Given the description of an element on the screen output the (x, y) to click on. 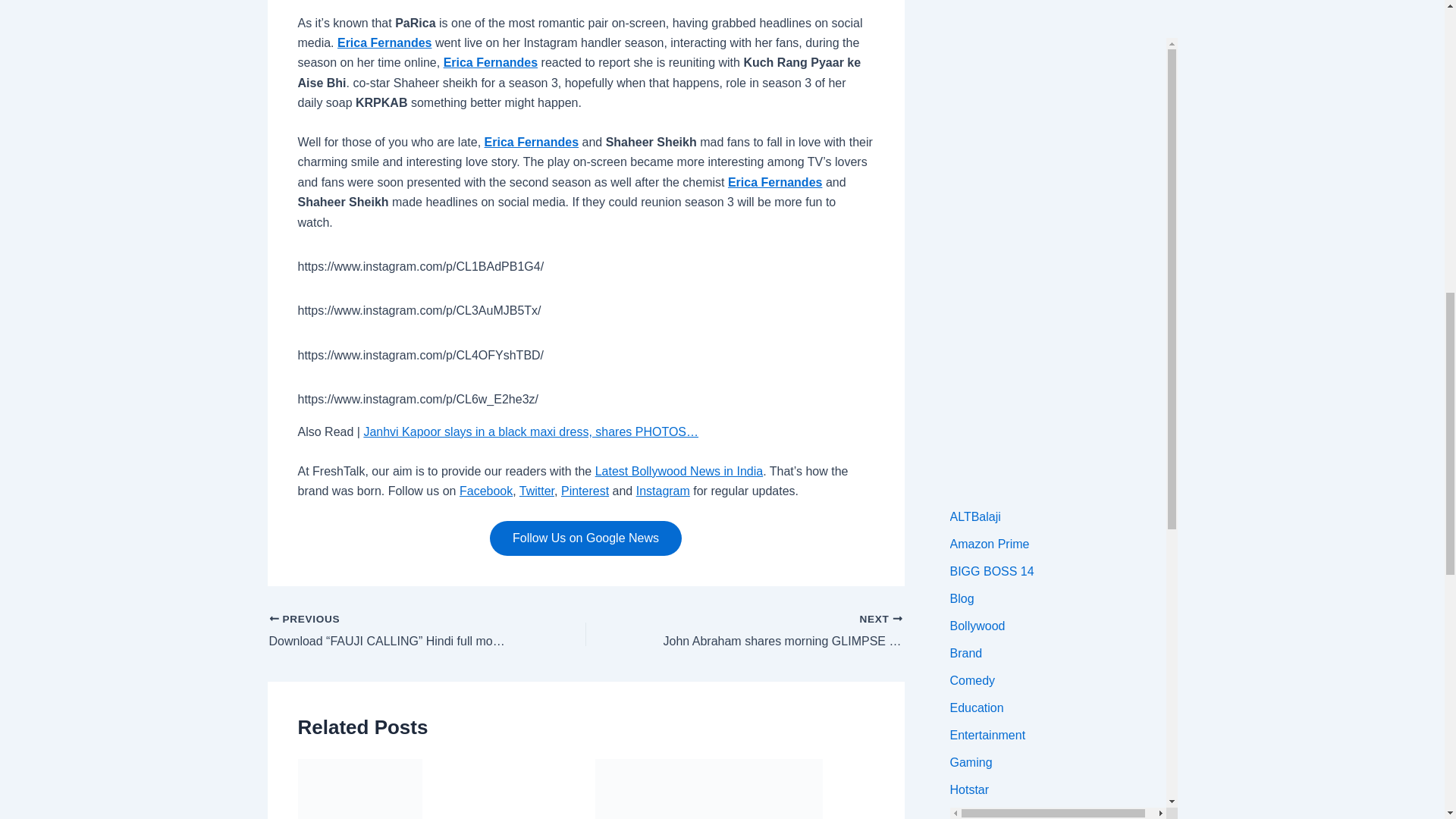
Download "FAUJI CALLING" Hindi full movie in HD Tamilrockers (394, 631)
Instagram (663, 490)
Latest Bollywood News in India (678, 471)
Twitter (536, 490)
Follow Us on Google News (585, 538)
Facebook (486, 490)
Erica Fernandes (491, 62)
Erica Fernandes (531, 141)
Pinterest (584, 490)
Erica Fernandes (384, 42)
Erica Fernandes (775, 182)
